Given the description of an element on the screen output the (x, y) to click on. 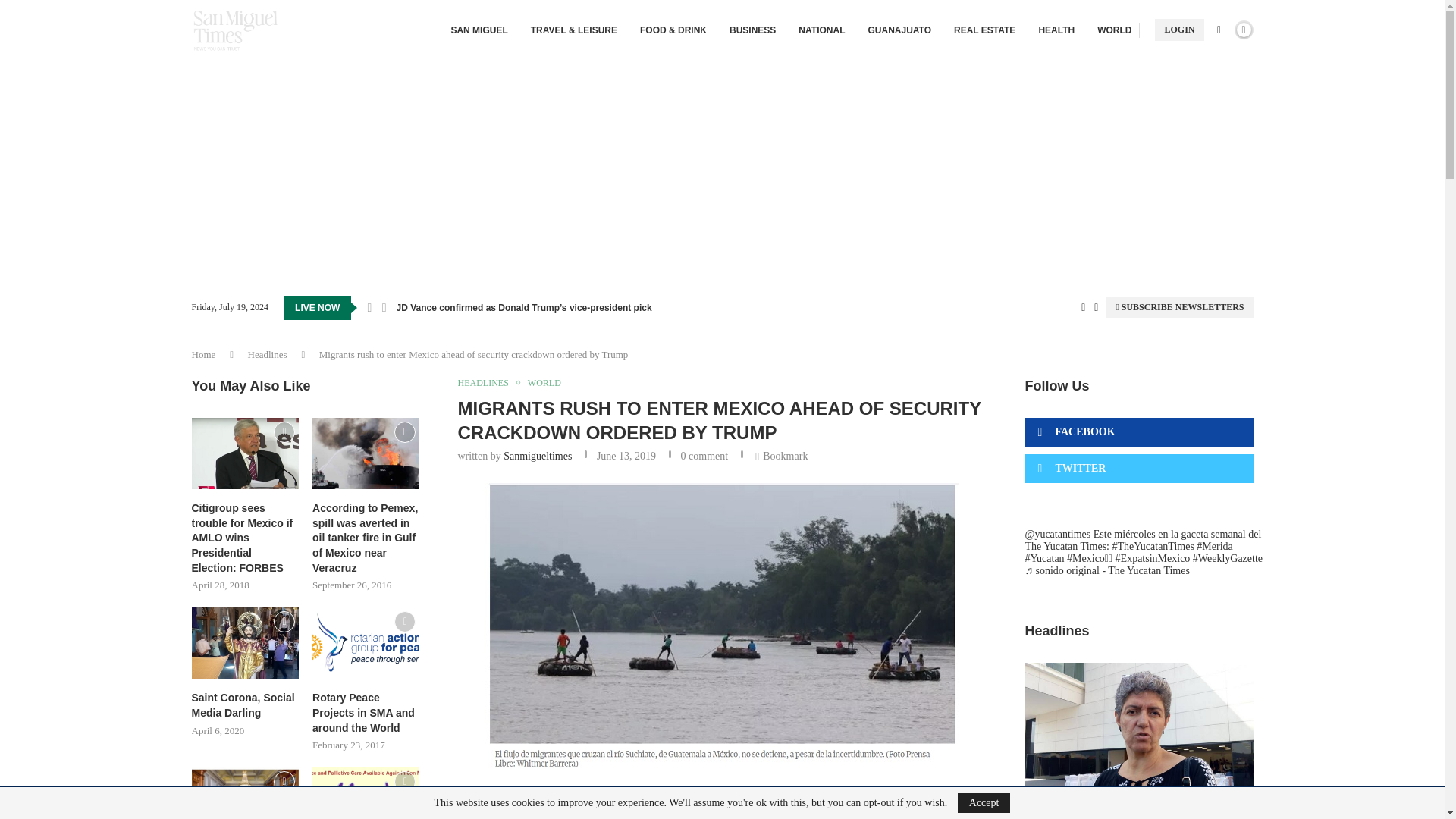
NATIONAL (820, 30)
HEALTH (1056, 30)
BUSINESS (752, 30)
WORLD (1114, 30)
LOGIN (1179, 29)
GUANAJUATO (899, 30)
SAN MIGUEL (477, 30)
REAL ESTATE (983, 30)
